Given the description of an element on the screen output the (x, y) to click on. 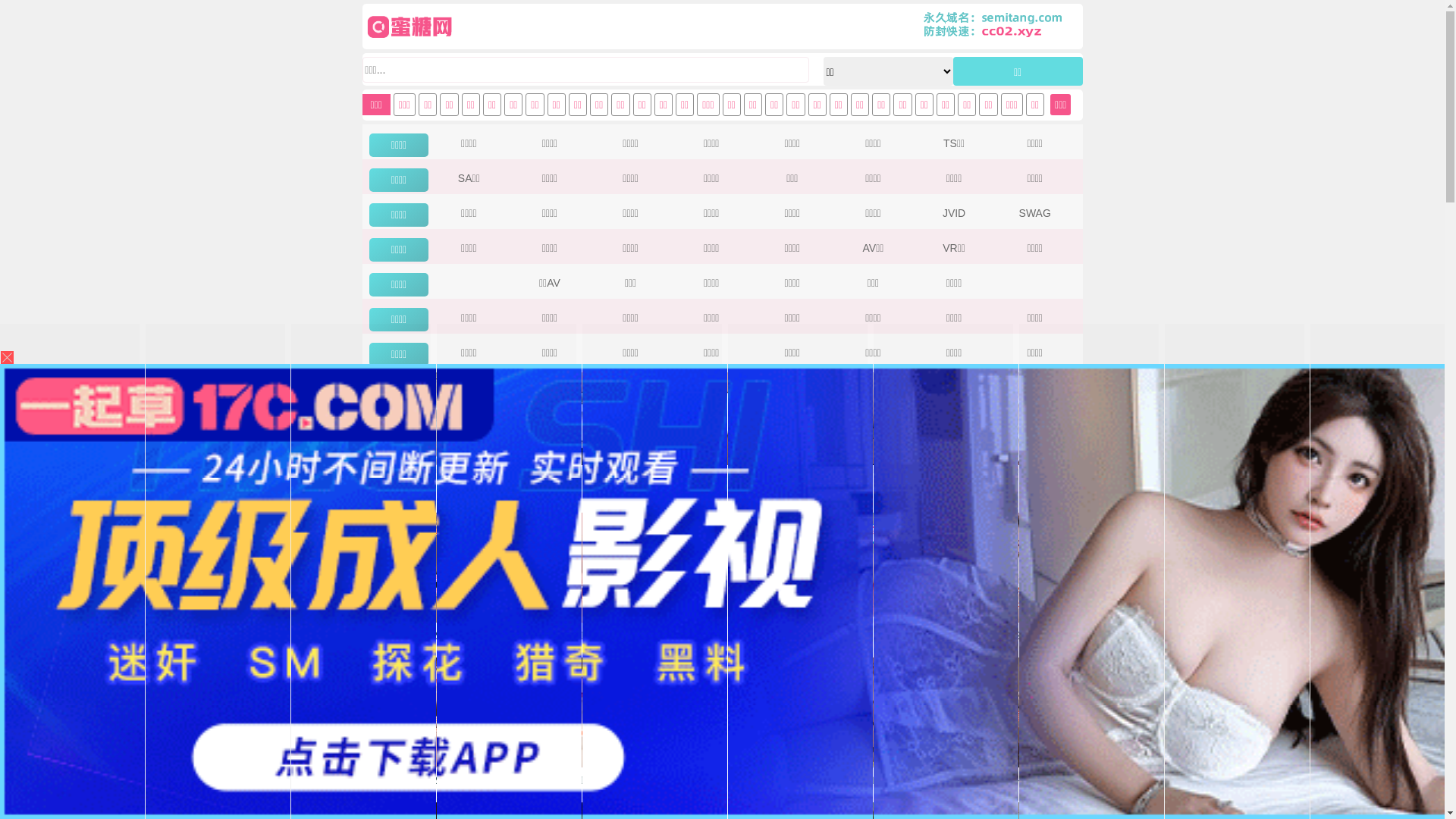
SWAG Element type: text (1035, 213)
JVID Element type: text (953, 213)
